Given the description of an element on the screen output the (x, y) to click on. 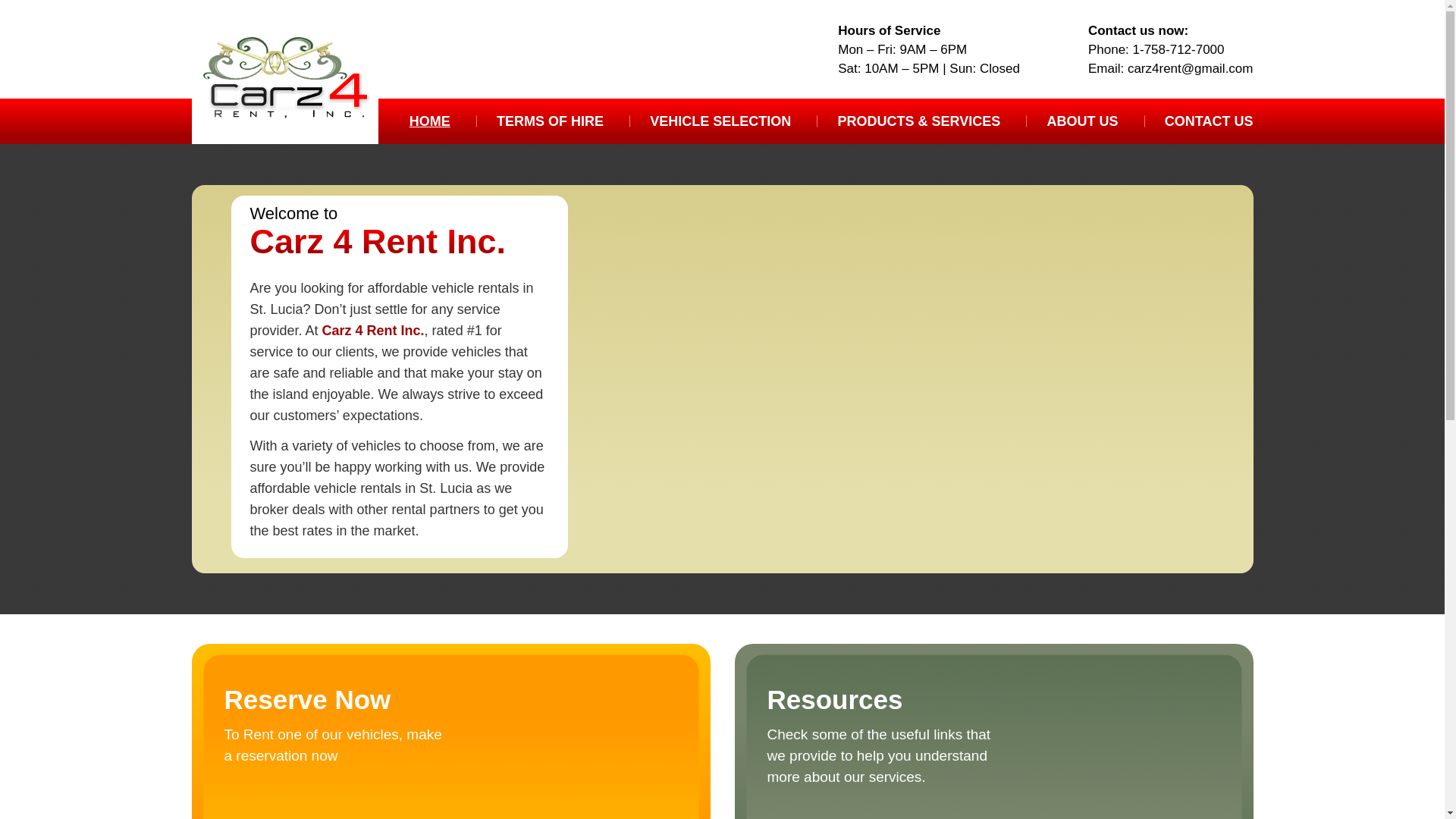
TERMS OF HIRE (550, 121)
HOME (429, 121)
ABOUT US (1082, 121)
CONTACT US (1208, 121)
VEHICLE SELECTION (719, 121)
